Given the description of an element on the screen output the (x, y) to click on. 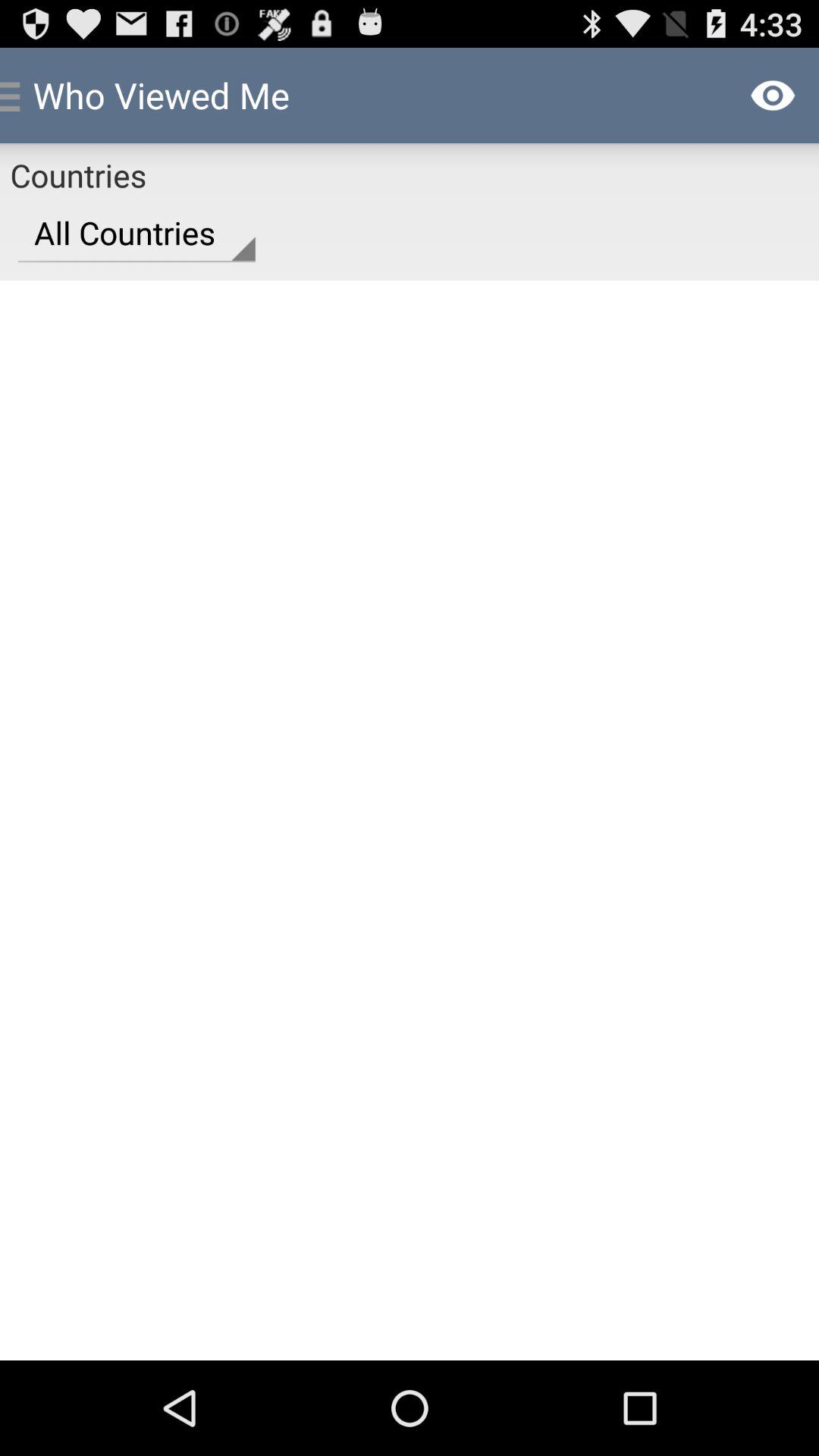
turn off the item below the all countries (409, 820)
